Given the description of an element on the screen output the (x, y) to click on. 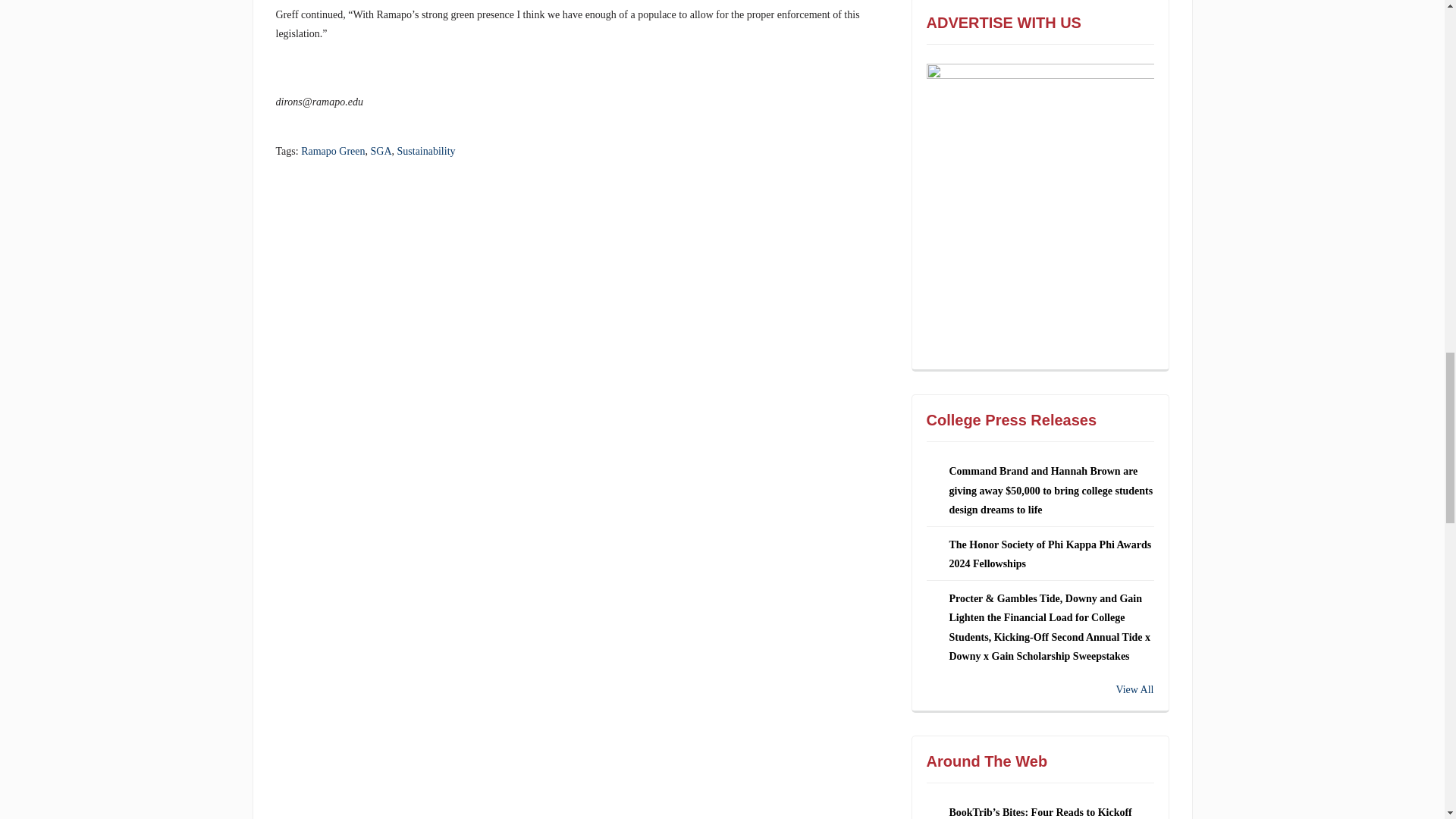
The Honor Society of Phi Kappa Phi Awards 2024 Fellowships (1050, 553)
